Given the description of an element on the screen output the (x, y) to click on. 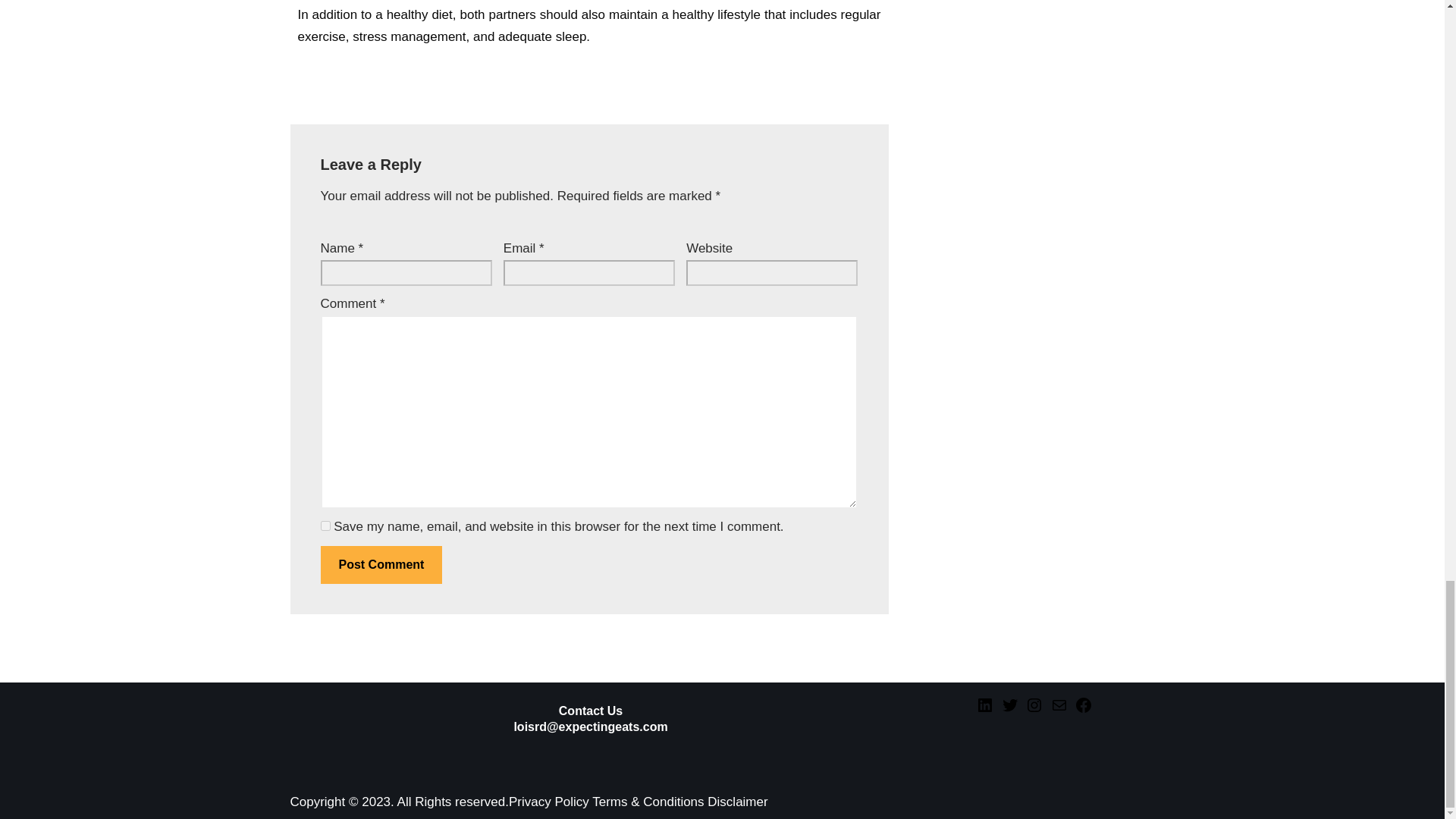
yes (325, 525)
Post Comment (381, 564)
